Given the description of an element on the screen output the (x, y) to click on. 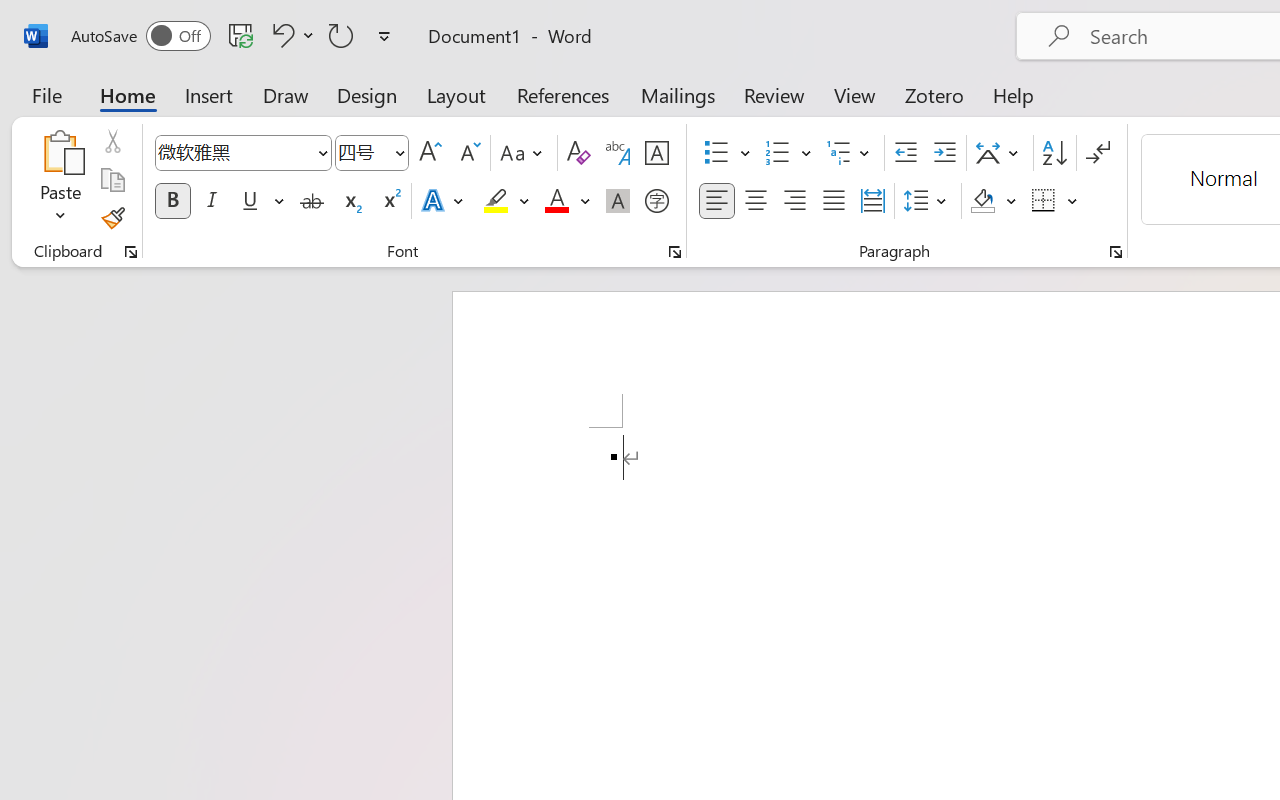
Font Color Red (556, 201)
Undo <ApplyStyleToDoc>b__0 (280, 35)
